Given the description of an element on the screen output the (x, y) to click on. 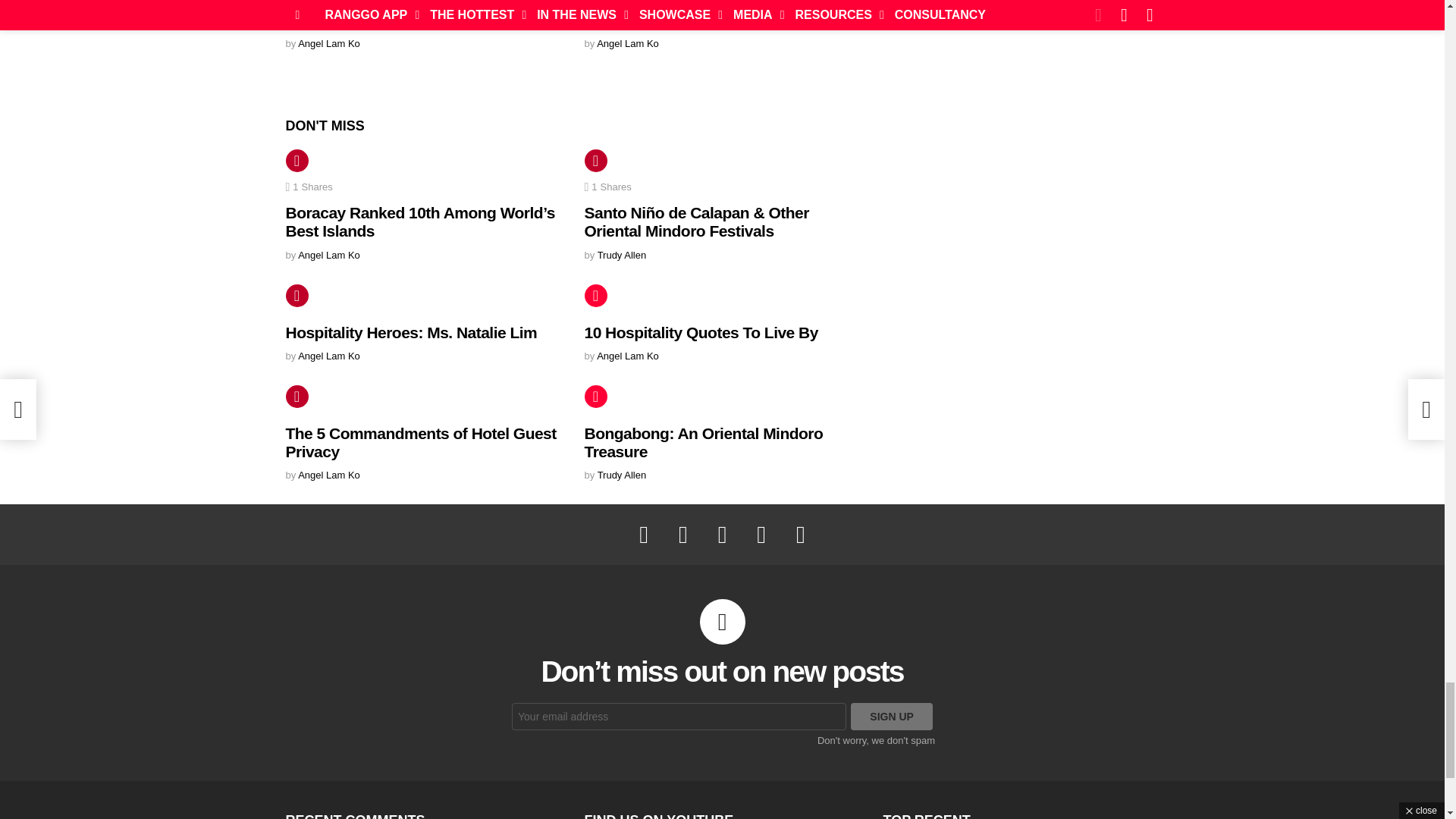
Sign up (891, 716)
